Given the description of an element on the screen output the (x, y) to click on. 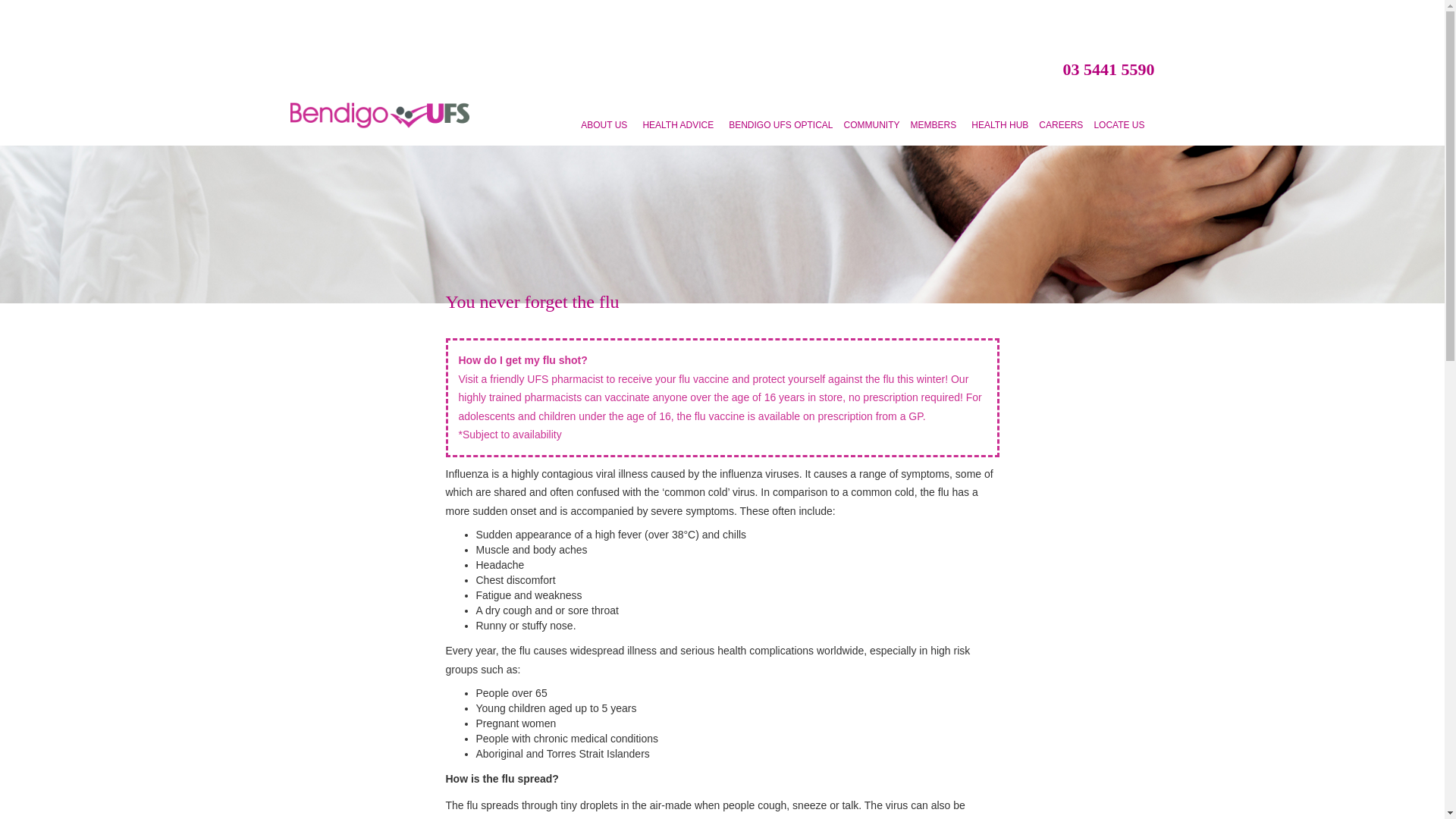
UFS Opitcal (780, 127)
ABOUT US (606, 127)
03 5441 5590 (1108, 68)
UFS Membership (935, 127)
HEALTH ADVICE (680, 127)
Health Advice (680, 127)
